Given the description of an element on the screen output the (x, y) to click on. 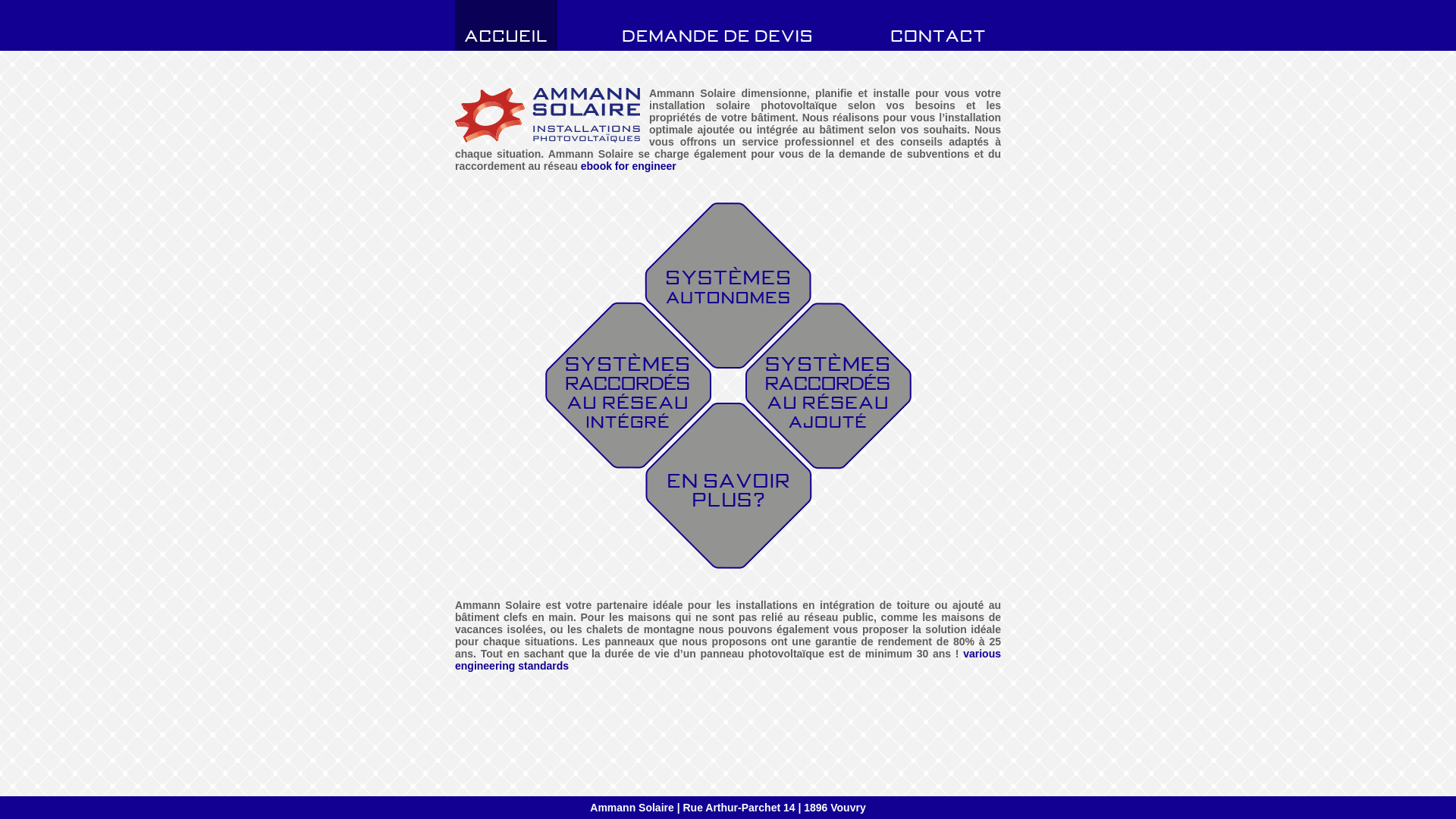
ebook for engineer Element type: text (628, 166)
various engineering standards Element type: text (728, 659)
